Given the description of an element on the screen output the (x, y) to click on. 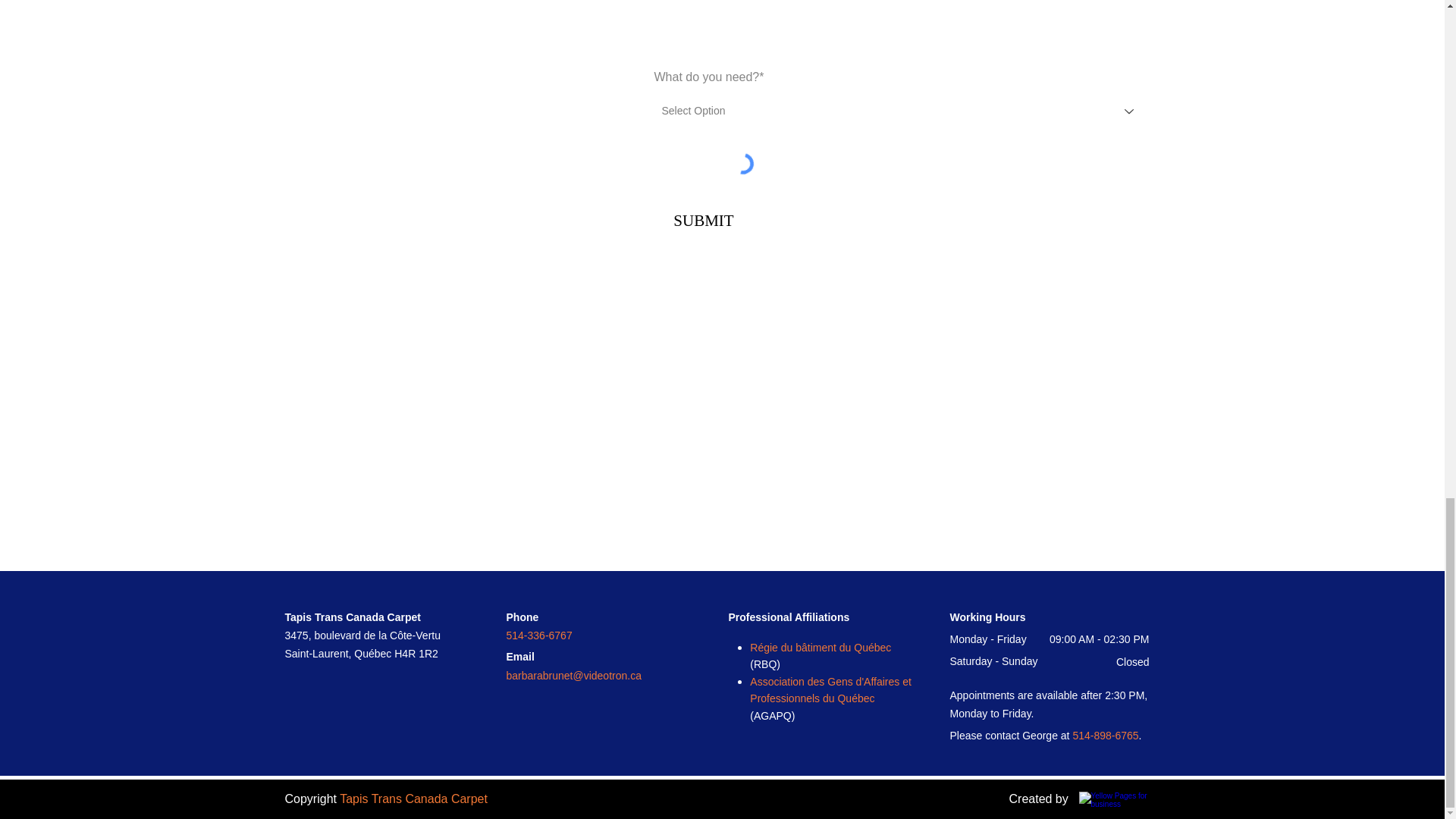
514-898-6765 (1104, 735)
Tapis Trans Canada Carpet (413, 798)
514-336-6767 (539, 636)
SUBMIT (702, 220)
